Given the description of an element on the screen output the (x, y) to click on. 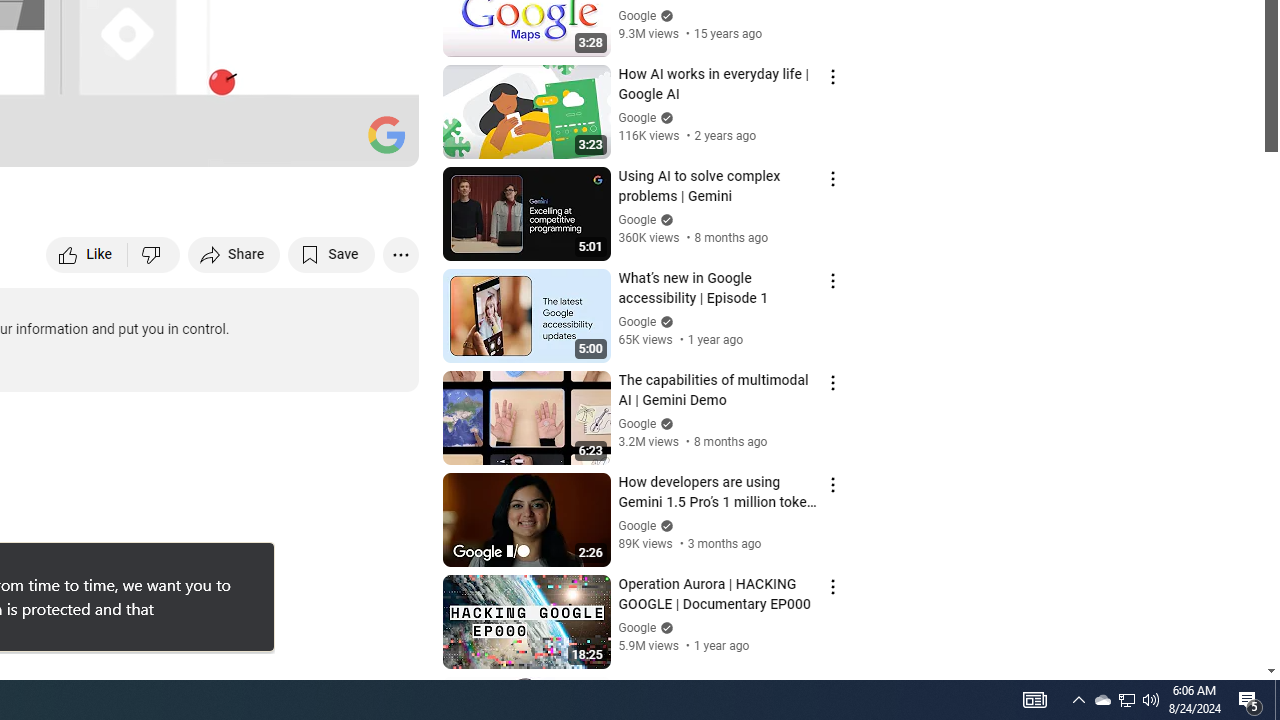
Dislike this video (154, 254)
Action menu (832, 688)
Share (234, 254)
